Given the description of an element on the screen output the (x, y) to click on. 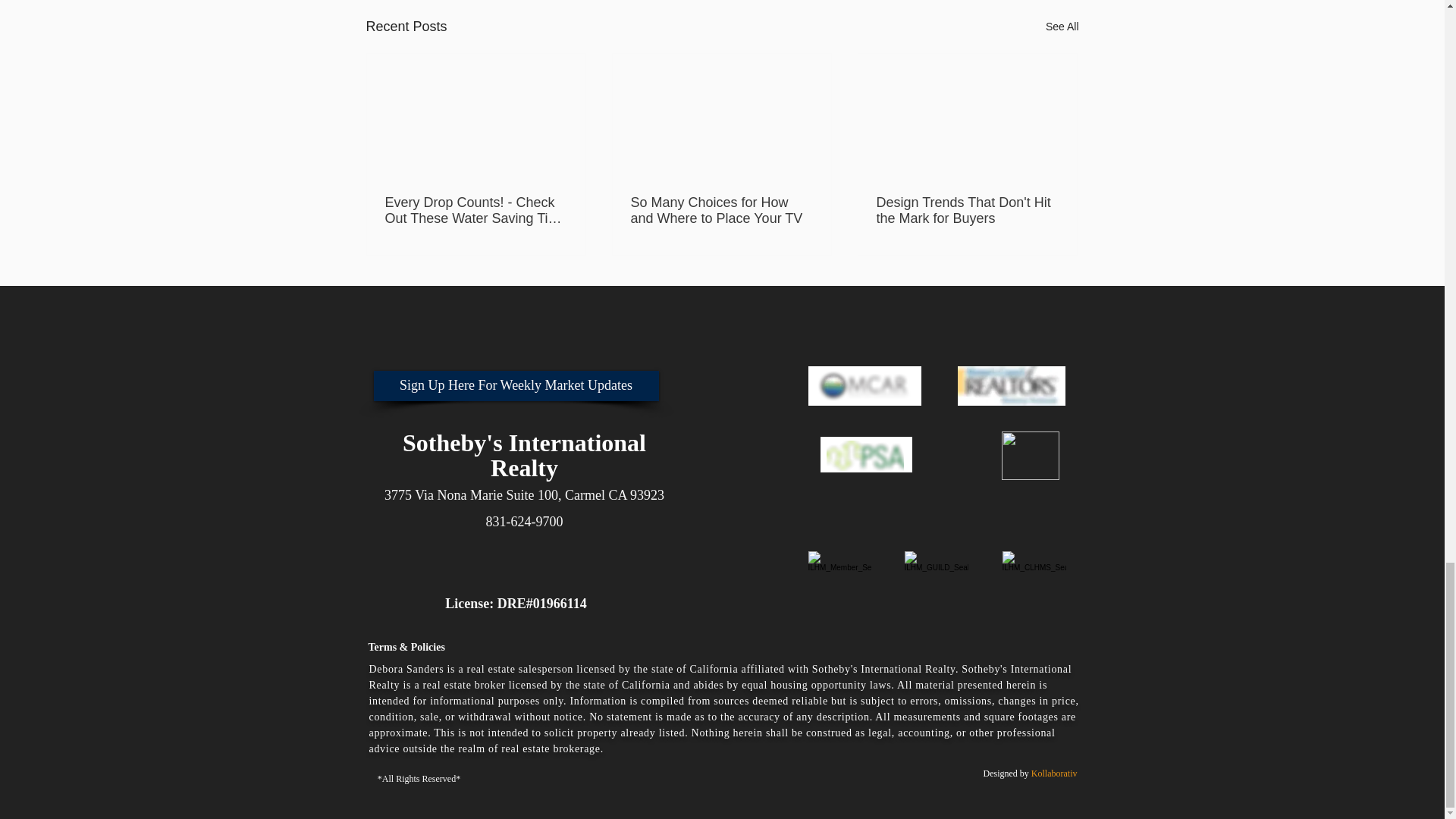
Sign Up Here For Weekly Market Updates (515, 386)
Design Trends That Don't Hit the Mark for Buyers (967, 210)
Kollaborativ (1055, 773)
So Many Choices for How and Where to Place Your TV (721, 210)
See All (1061, 26)
